Given the description of an element on the screen output the (x, y) to click on. 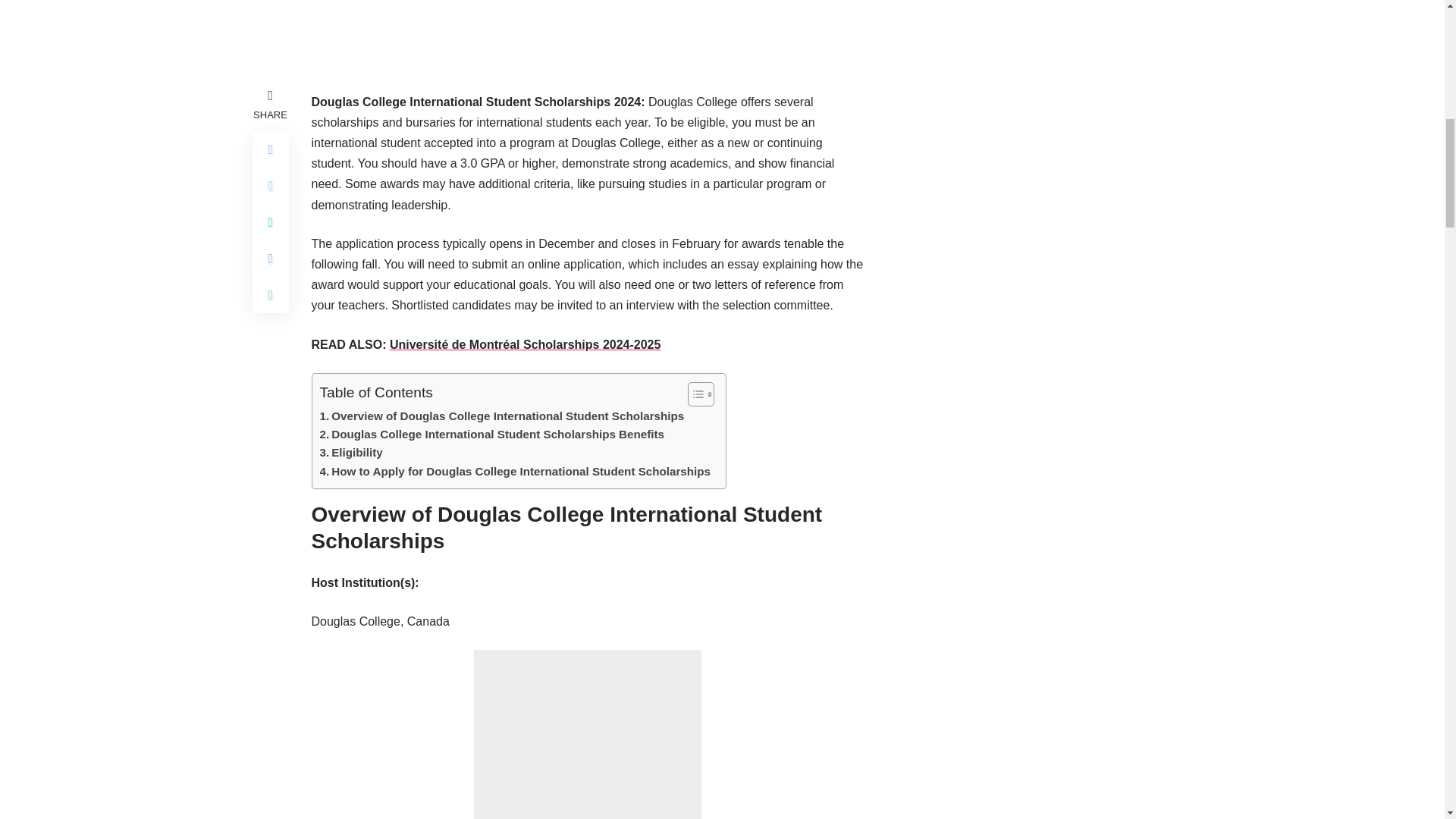
Eligibility (351, 452)
Douglas College International Student Scholarships Benefits (492, 434)
